Given the description of an element on the screen output the (x, y) to click on. 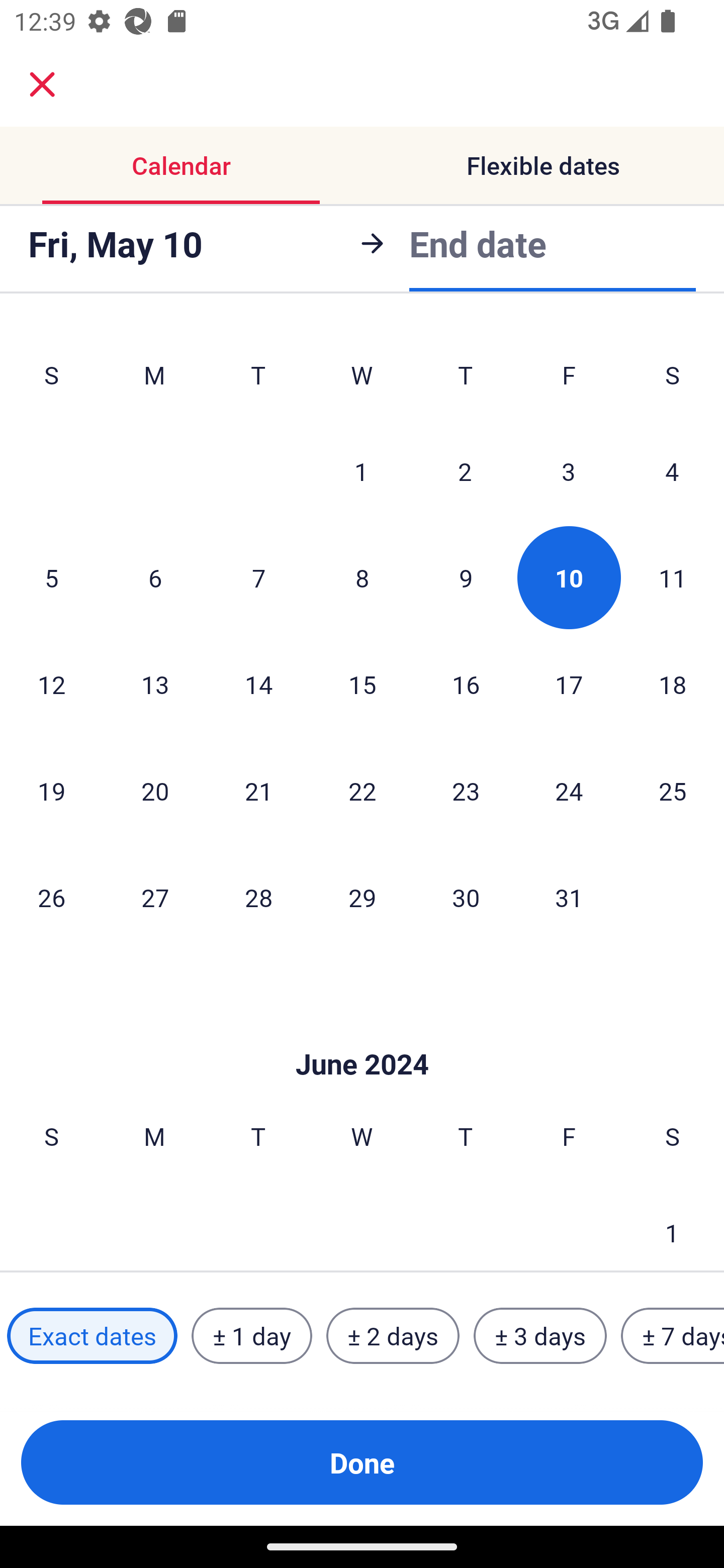
close. (42, 84)
Flexible dates (542, 164)
End date (477, 240)
1 Wednesday, May 1, 2024 (361, 471)
2 Thursday, May 2, 2024 (464, 471)
3 Friday, May 3, 2024 (568, 471)
4 Saturday, May 4, 2024 (672, 471)
5 Sunday, May 5, 2024 (51, 577)
6 Monday, May 6, 2024 (155, 577)
7 Tuesday, May 7, 2024 (258, 577)
8 Wednesday, May 8, 2024 (362, 577)
9 Thursday, May 9, 2024 (465, 577)
11 Saturday, May 11, 2024 (672, 577)
12 Sunday, May 12, 2024 (51, 684)
13 Monday, May 13, 2024 (155, 684)
14 Tuesday, May 14, 2024 (258, 684)
15 Wednesday, May 15, 2024 (362, 684)
16 Thursday, May 16, 2024 (465, 684)
17 Friday, May 17, 2024 (569, 684)
18 Saturday, May 18, 2024 (672, 684)
19 Sunday, May 19, 2024 (51, 790)
20 Monday, May 20, 2024 (155, 790)
21 Tuesday, May 21, 2024 (258, 790)
22 Wednesday, May 22, 2024 (362, 790)
23 Thursday, May 23, 2024 (465, 790)
24 Friday, May 24, 2024 (569, 790)
25 Saturday, May 25, 2024 (672, 790)
26 Sunday, May 26, 2024 (51, 896)
27 Monday, May 27, 2024 (155, 896)
28 Tuesday, May 28, 2024 (258, 896)
29 Wednesday, May 29, 2024 (362, 896)
30 Thursday, May 30, 2024 (465, 896)
31 Friday, May 31, 2024 (569, 896)
Skip to Done (362, 1034)
1 Saturday, June 1, 2024 (672, 1225)
Exact dates (92, 1335)
± 1 day (251, 1335)
± 2 days (392, 1335)
± 3 days (539, 1335)
± 7 days (672, 1335)
Done (361, 1462)
